Given the description of an element on the screen output the (x, y) to click on. 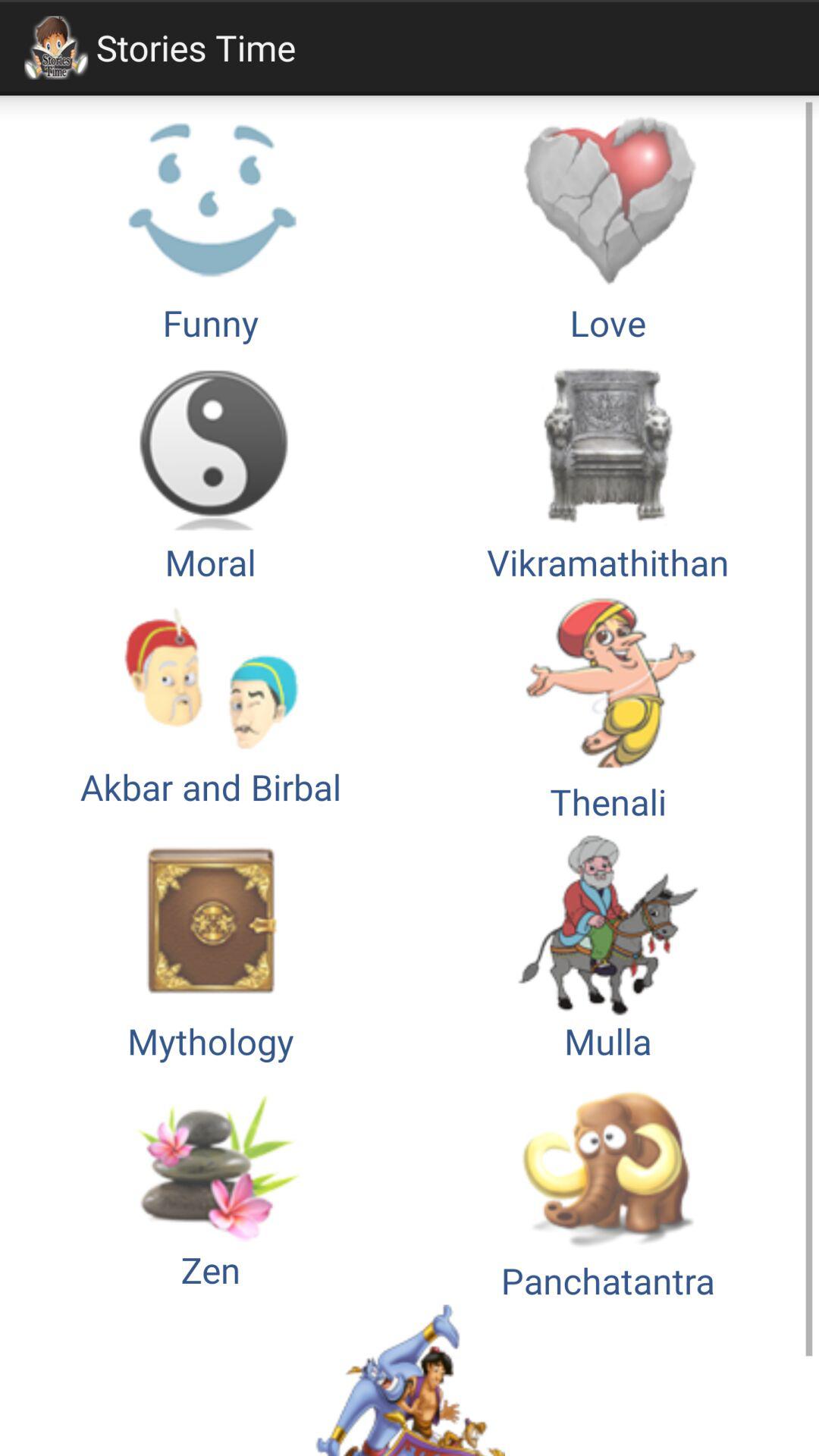
click on the image which is below zen and panchatantra images (409, 1380)
select the vikramathithan image which is in second row second column (607, 466)
select the panchatantra image which is in the fourth row second column (607, 1184)
option below moral (210, 705)
select the love option (607, 227)
click on image which is above the mulla (607, 705)
